Given the description of an element on the screen output the (x, y) to click on. 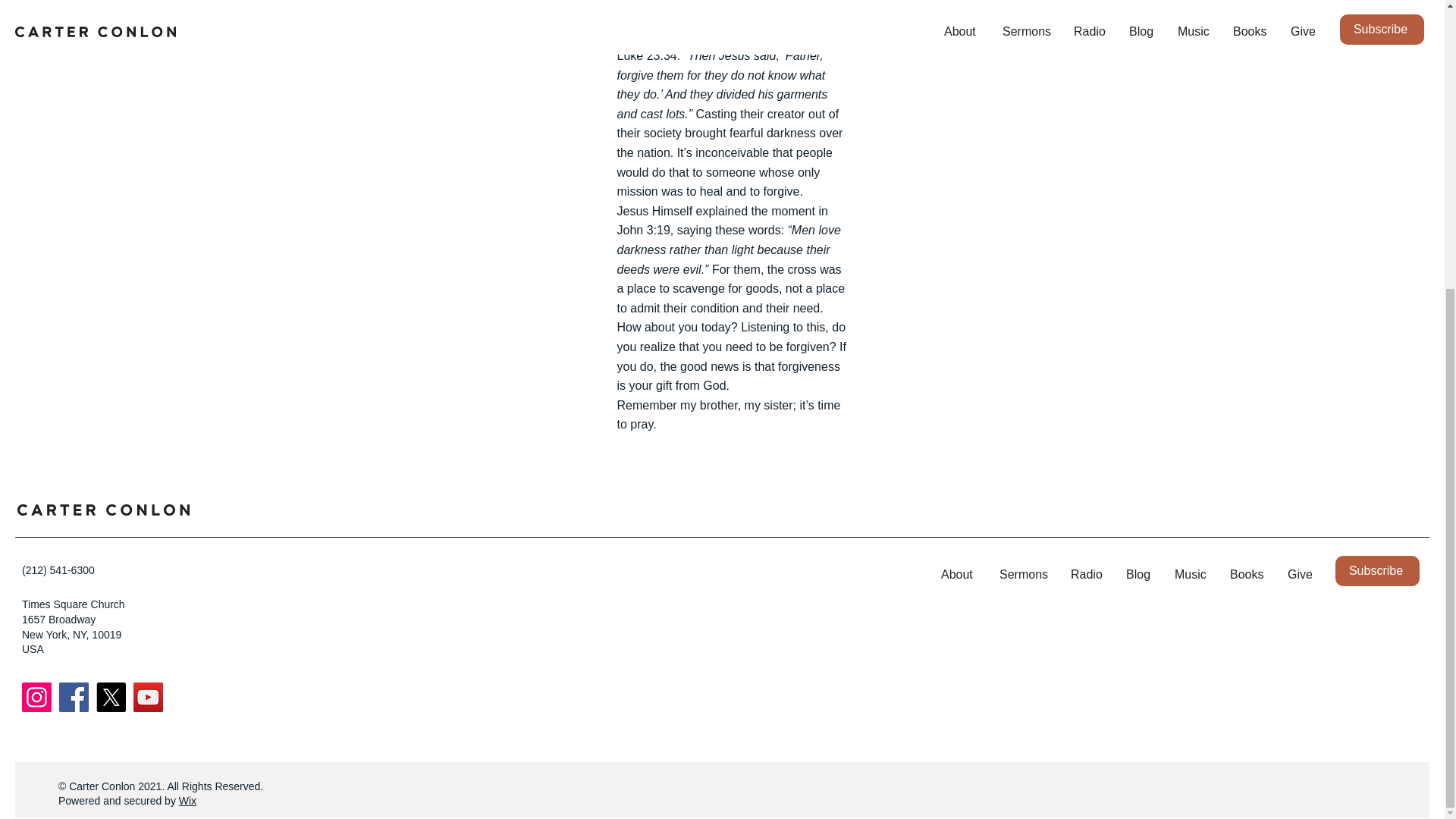
Books (1247, 574)
Sermons (1023, 574)
Music (1190, 574)
Wix (187, 800)
Subscribe (1377, 571)
Blog (1139, 574)
Radio (1087, 574)
About (959, 574)
Give (1299, 574)
